Given the description of an element on the screen output the (x, y) to click on. 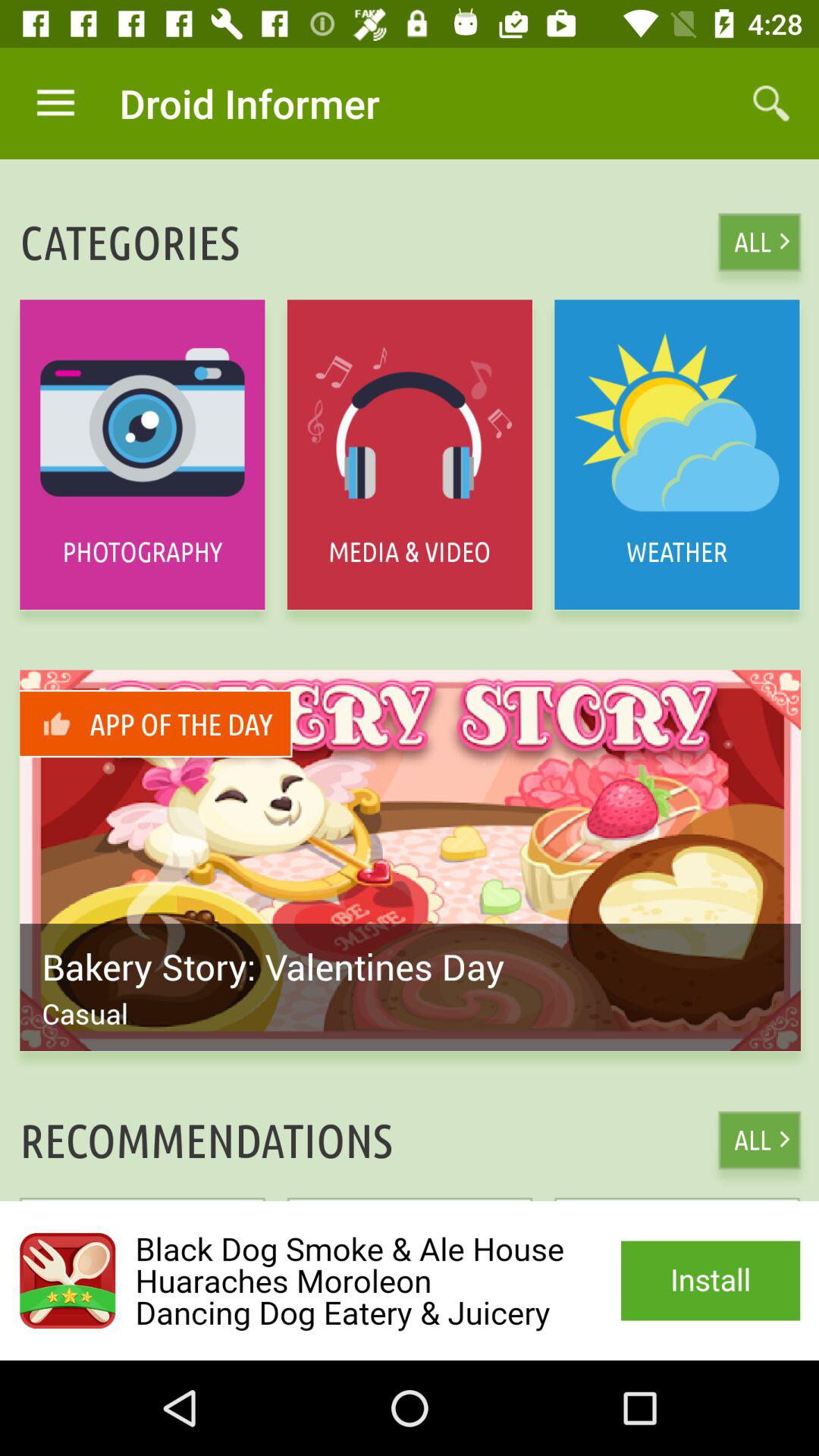
install application (409, 1280)
